Given the description of an element on the screen output the (x, y) to click on. 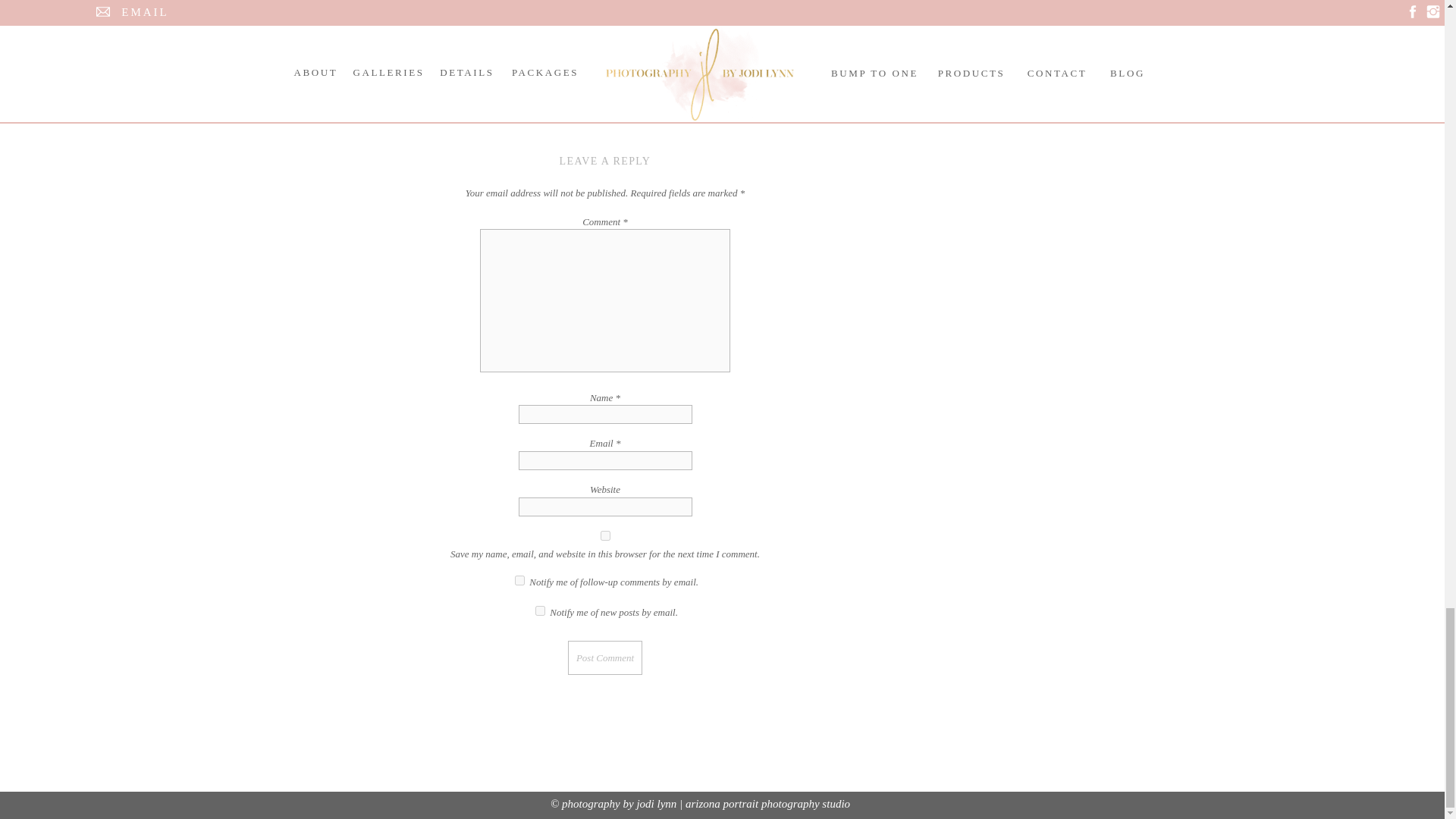
Post Comment (604, 657)
Post Comment (604, 657)
yes (604, 535)
subscribe (539, 610)
subscribe (519, 580)
